Given the description of an element on the screen output the (x, y) to click on. 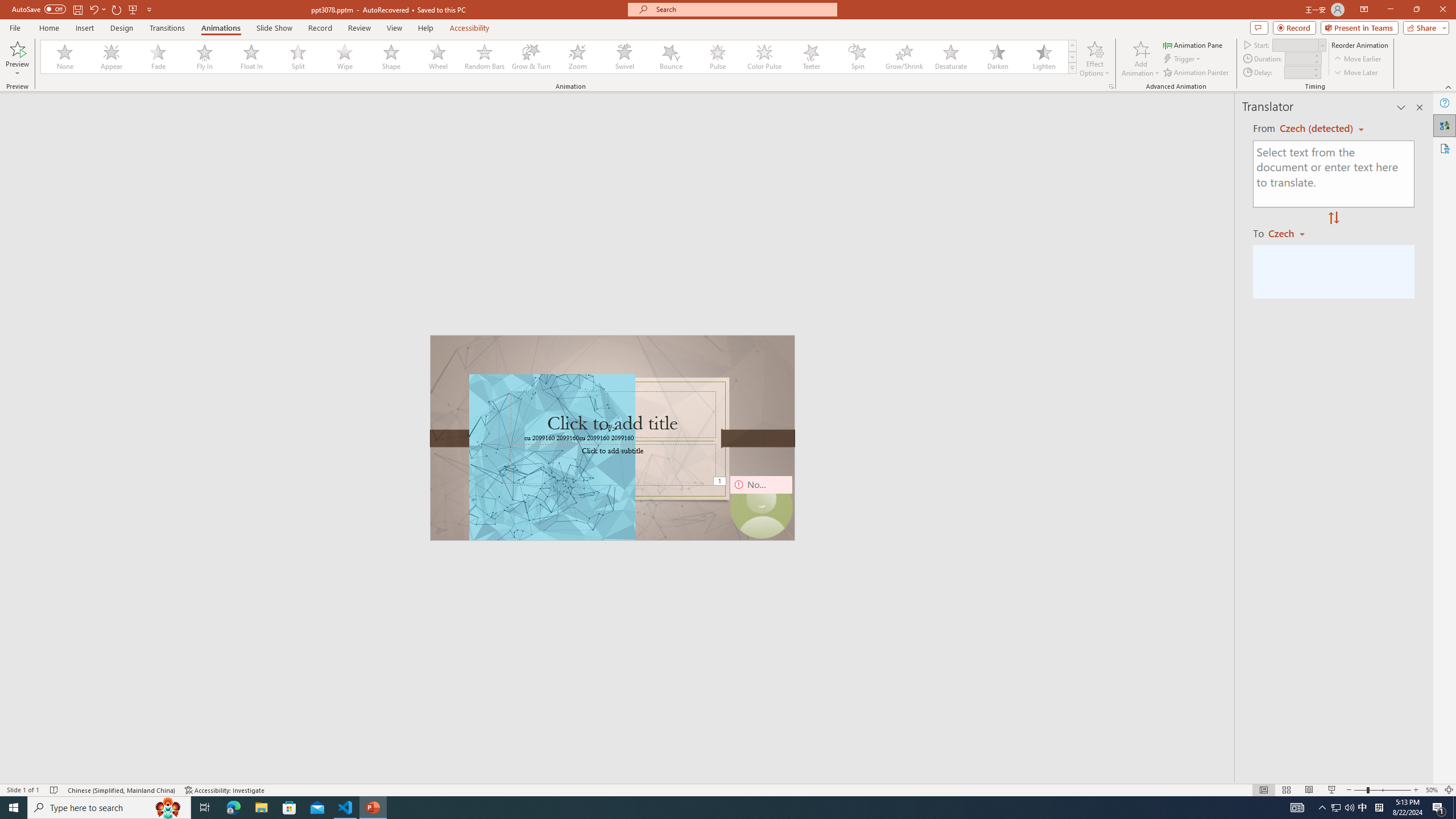
Add Animation (1141, 58)
Shape (391, 56)
Fly In (205, 56)
Animation Delay (1297, 72)
Start (1299, 44)
Bounce (670, 56)
Animation Styles (1071, 67)
TextBox 7 (608, 428)
Czech (1291, 232)
Move Earlier (1357, 58)
Class: MsoCommandBar (728, 789)
